Given the description of an element on the screen output the (x, y) to click on. 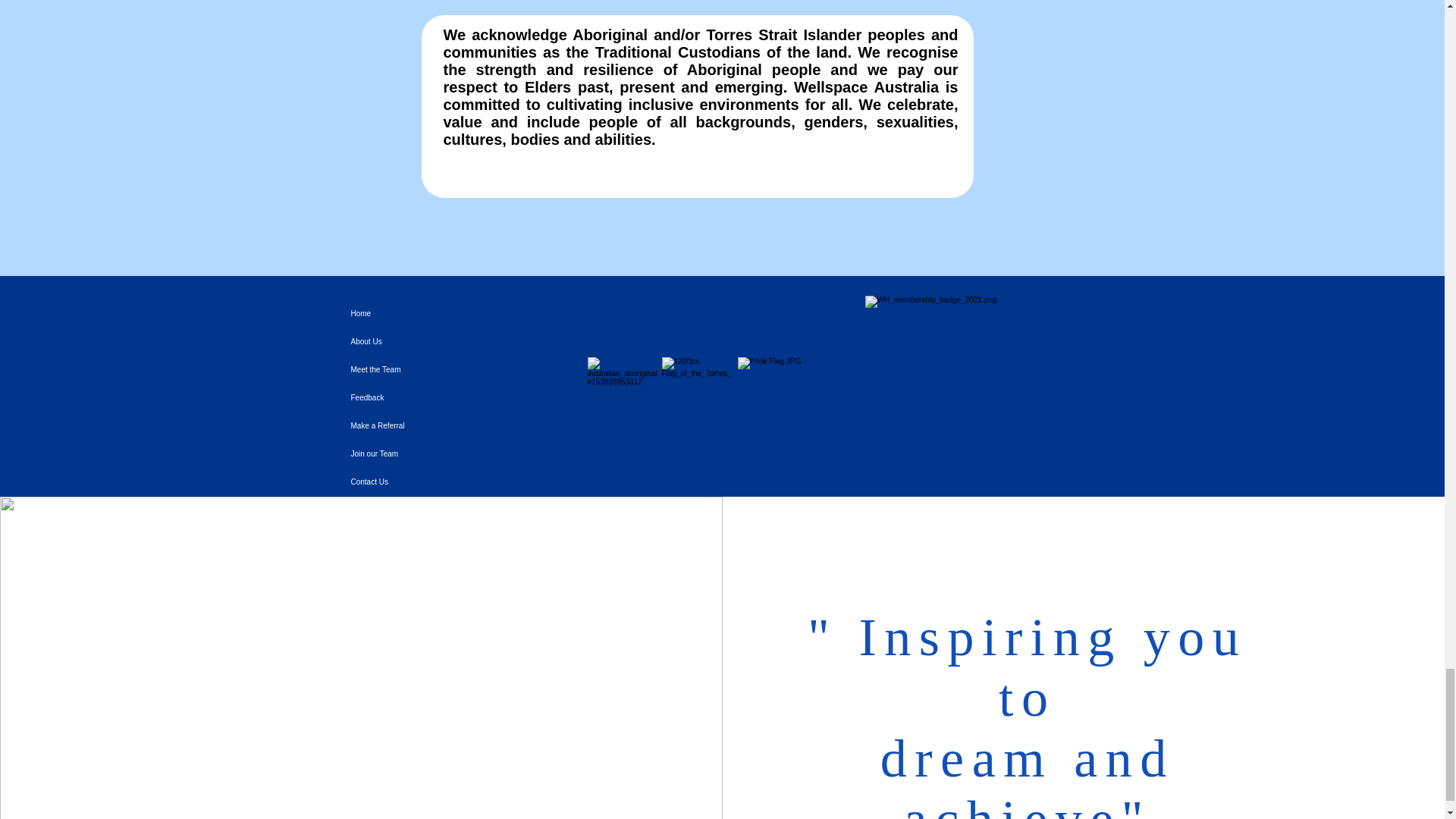
Feedback (459, 397)
Home (459, 313)
Join our Team (459, 453)
Contact Us (459, 481)
Meet the Team (459, 369)
About Us (459, 341)
Make a Referral (459, 425)
